Given the description of an element on the screen output the (x, y) to click on. 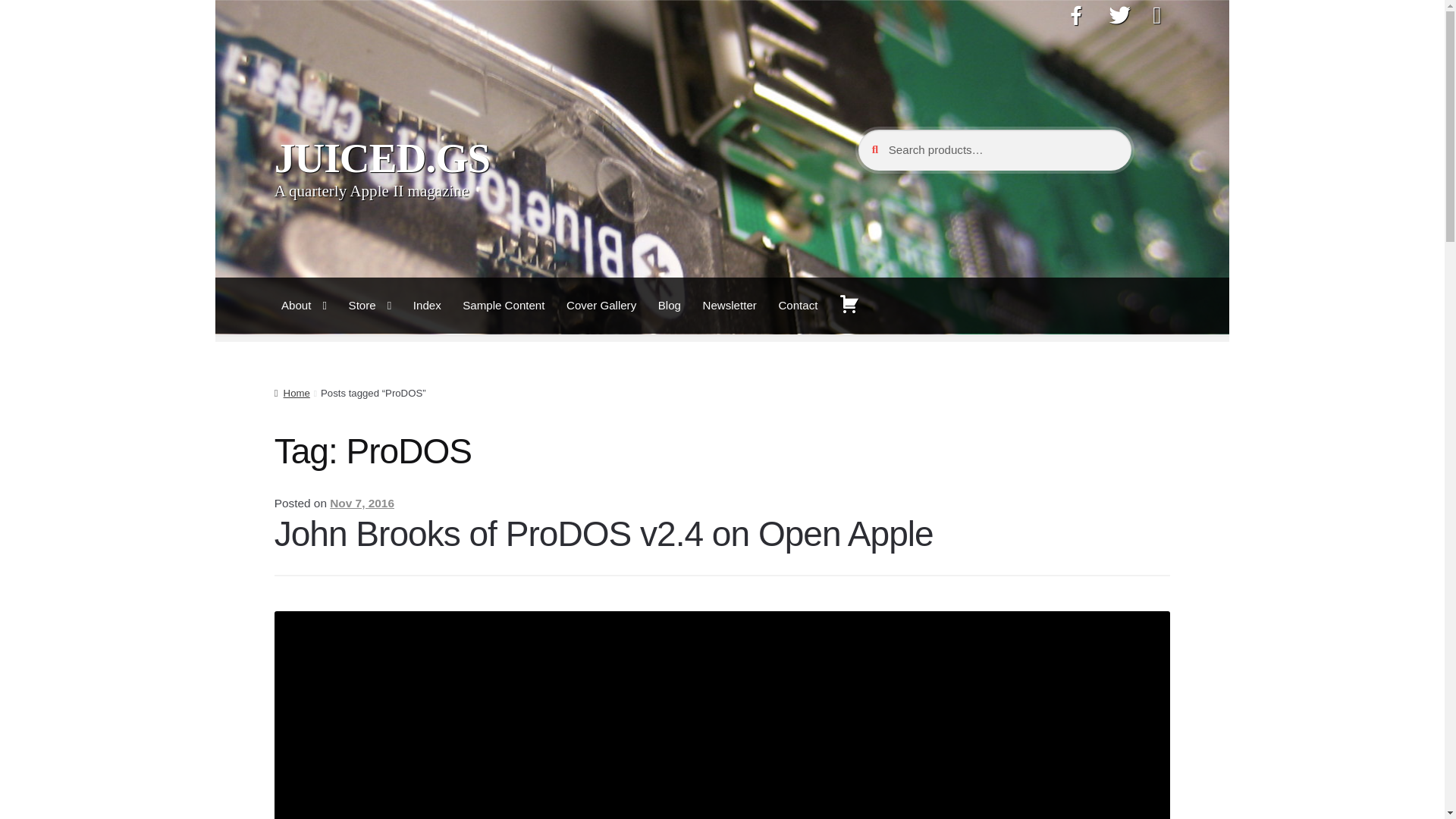
Cover Gallery (601, 304)
Newsletter (730, 304)
Twitter (1120, 18)
Cover Gallery (601, 304)
Twitter (1120, 18)
JUICED.GS (382, 157)
Sample Content (503, 304)
Facebook (1075, 18)
Facebook (1075, 18)
Sample Content (503, 304)
